Given the description of an element on the screen output the (x, y) to click on. 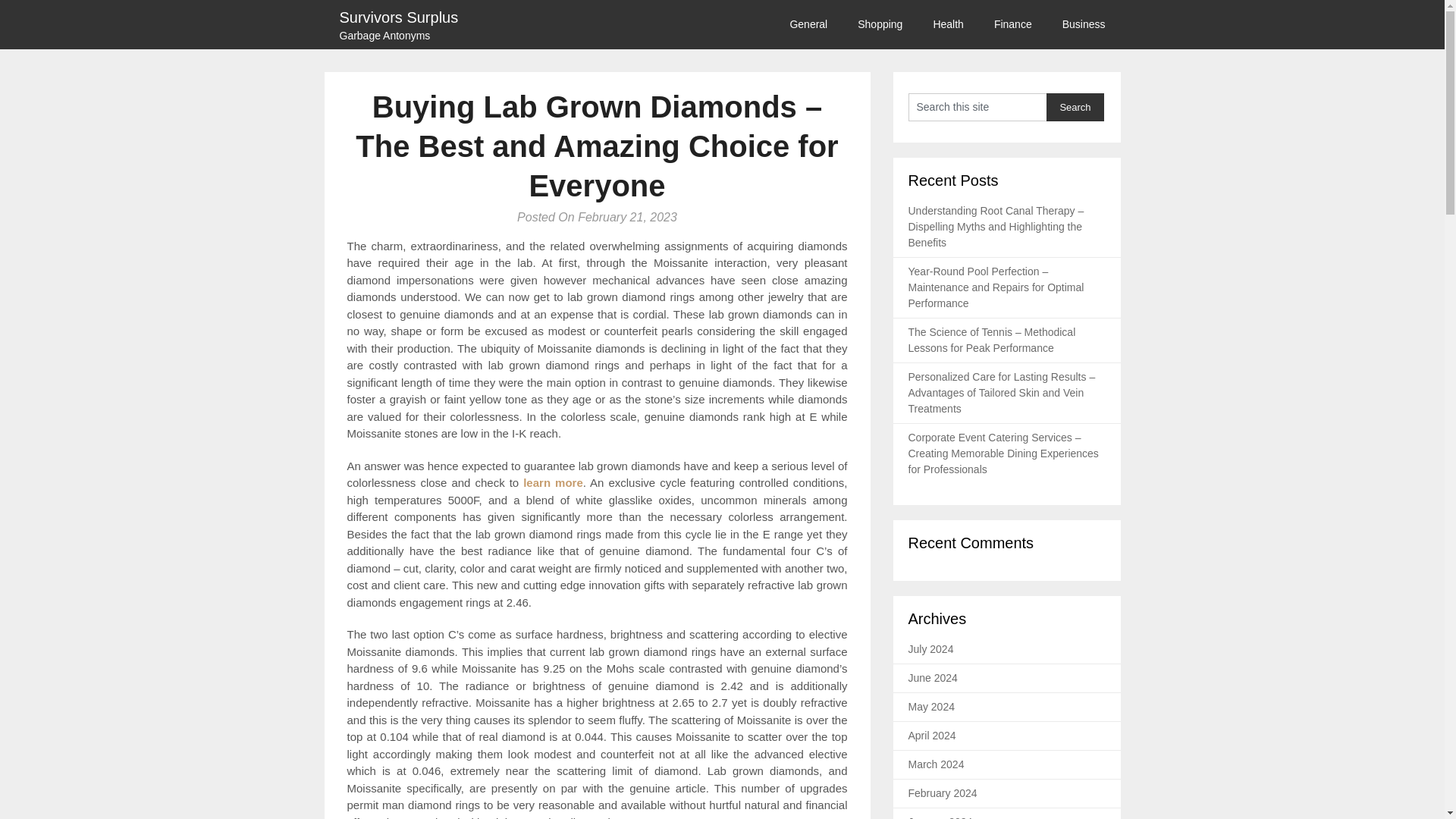
Search (1075, 107)
Shopping (880, 24)
Search this site (977, 107)
Health (947, 24)
Finance (1012, 24)
May 2024 (931, 706)
March 2024 (935, 764)
General (399, 18)
learn more (816, 24)
April 2024 (552, 481)
Business (932, 735)
January 2024 (1083, 24)
Search (940, 817)
February 2024 (1075, 107)
